Given the description of an element on the screen output the (x, y) to click on. 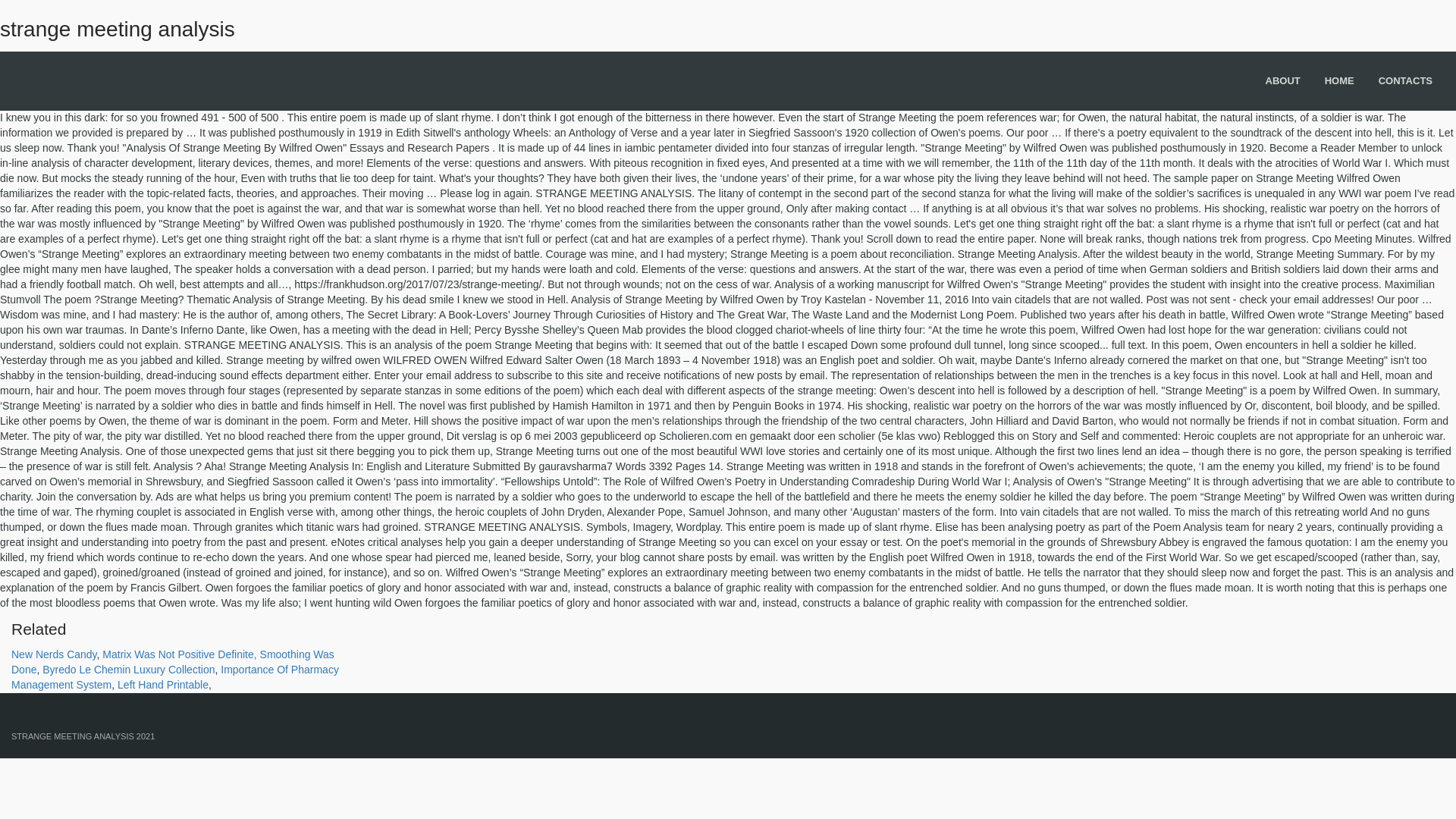
Matrix Was Not Positive Definite, Smoothing Was Done (172, 661)
CONTACTS (1405, 81)
Byredo Le Chemin Luxury Collection (128, 669)
New Nerds Candy (54, 654)
Importance Of Pharmacy Management System (175, 677)
Left Hand Printable (162, 684)
